Given the description of an element on the screen output the (x, y) to click on. 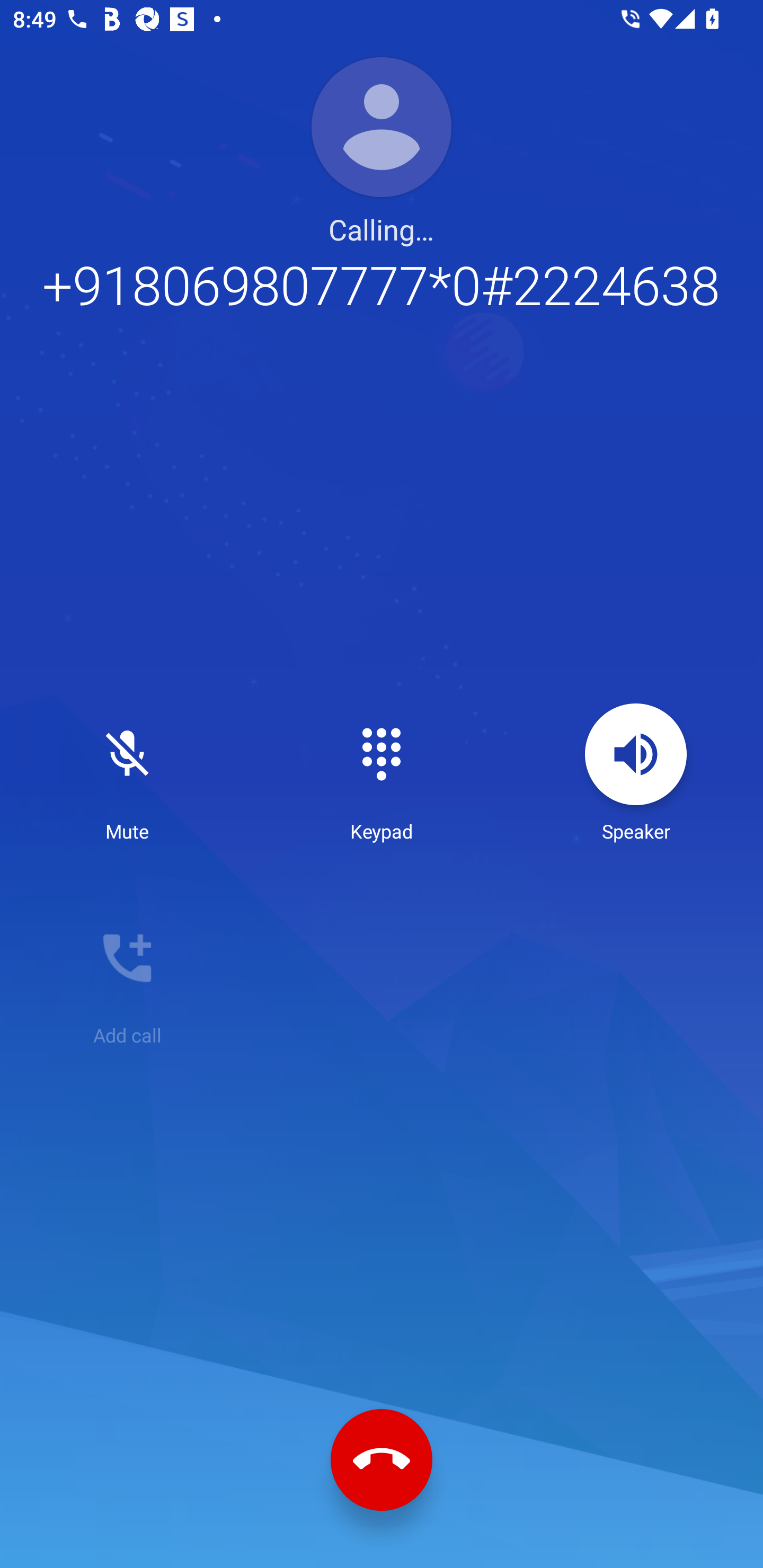
Unmuted Mute (127, 773)
Keypad (381, 773)
Speaker, is on Speaker (635, 773)
Add call (127, 977)
End call (381, 1460)
